Given the description of an element on the screen output the (x, y) to click on. 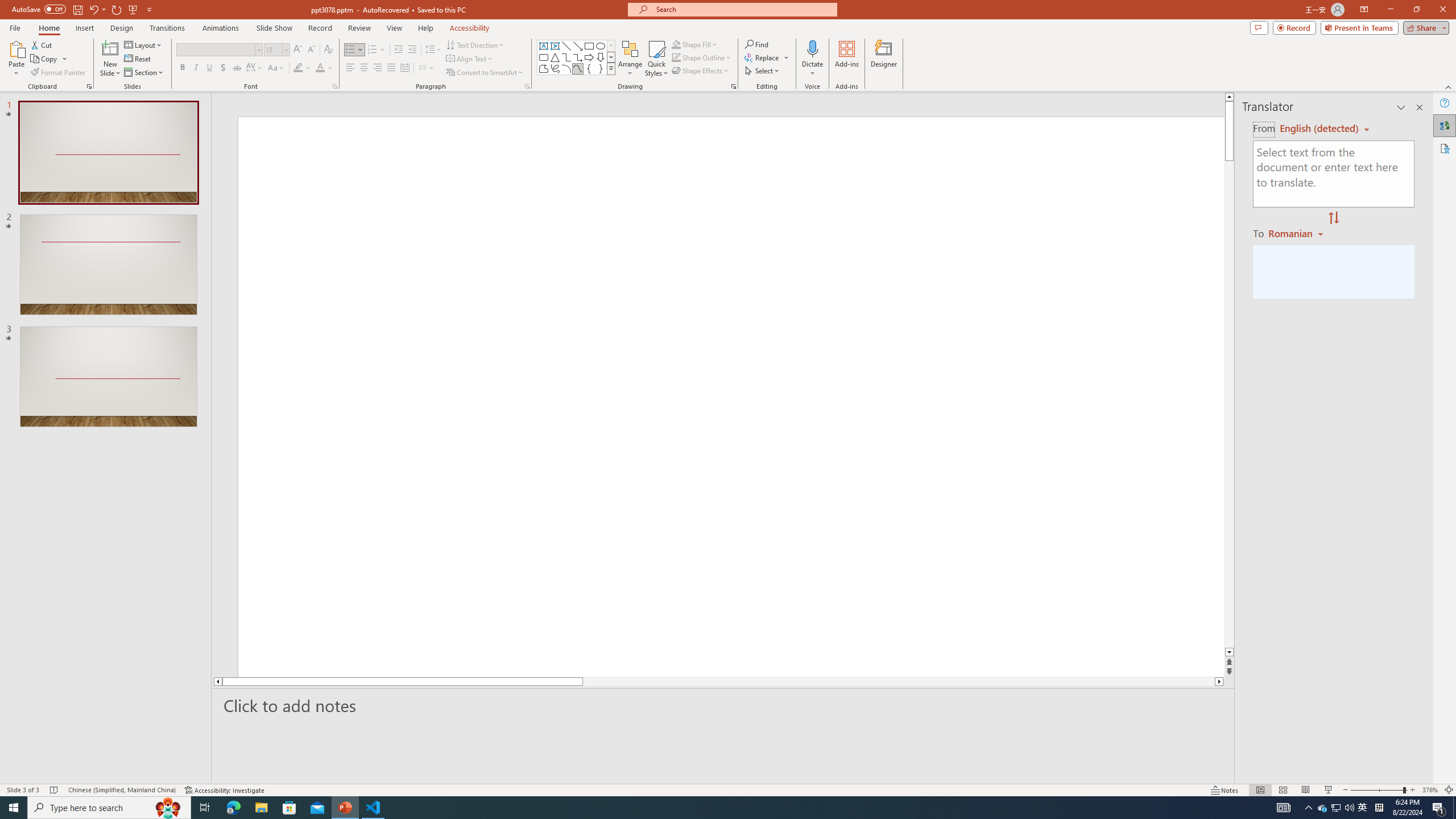
Text Highlight Color Yellow (297, 67)
Text Direction (476, 44)
Shadow (223, 67)
Zoom 376% (1430, 790)
Rectangle: Rounded Corners (543, 57)
Paragraph... (526, 85)
Font Color (324, 67)
Columns (426, 67)
Italic (195, 67)
